Given the description of an element on the screen output the (x, y) to click on. 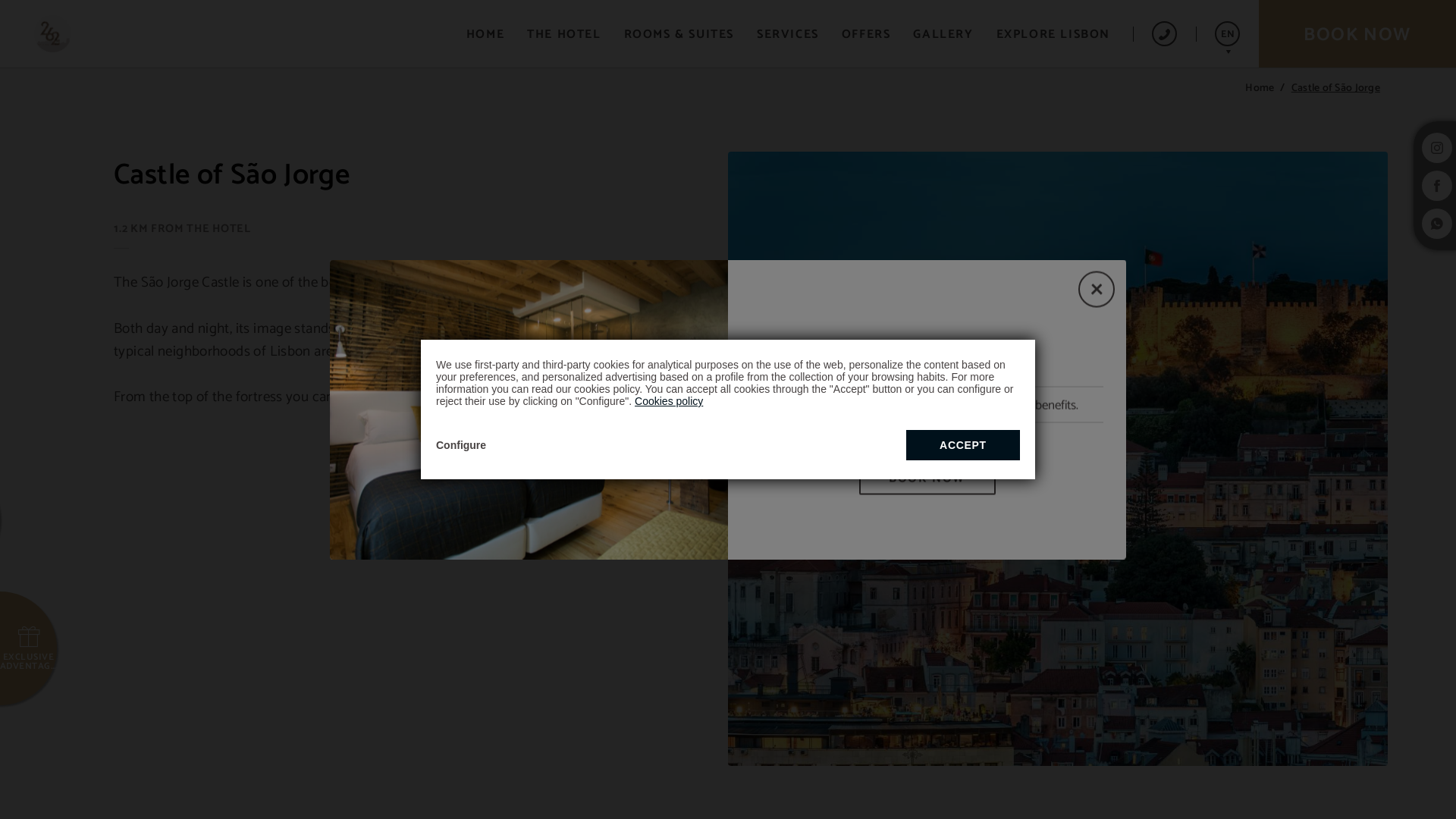
THE HOTEL Element type: text (563, 33)
BOOK NOW Element type: text (927, 483)
HOME Element type: text (485, 33)
Cookies policy Element type: text (668, 401)
ACCEPT Element type: text (962, 444)
EXPLORE LISBON Element type: text (1053, 33)
GALLERY Element type: text (942, 33)
Home Element type: text (1267, 88)
OFFERS Element type: text (866, 33)
ROOMS & SUITES Element type: text (678, 33)
SERVICES Element type: text (787, 33)
